Given the description of an element on the screen output the (x, y) to click on. 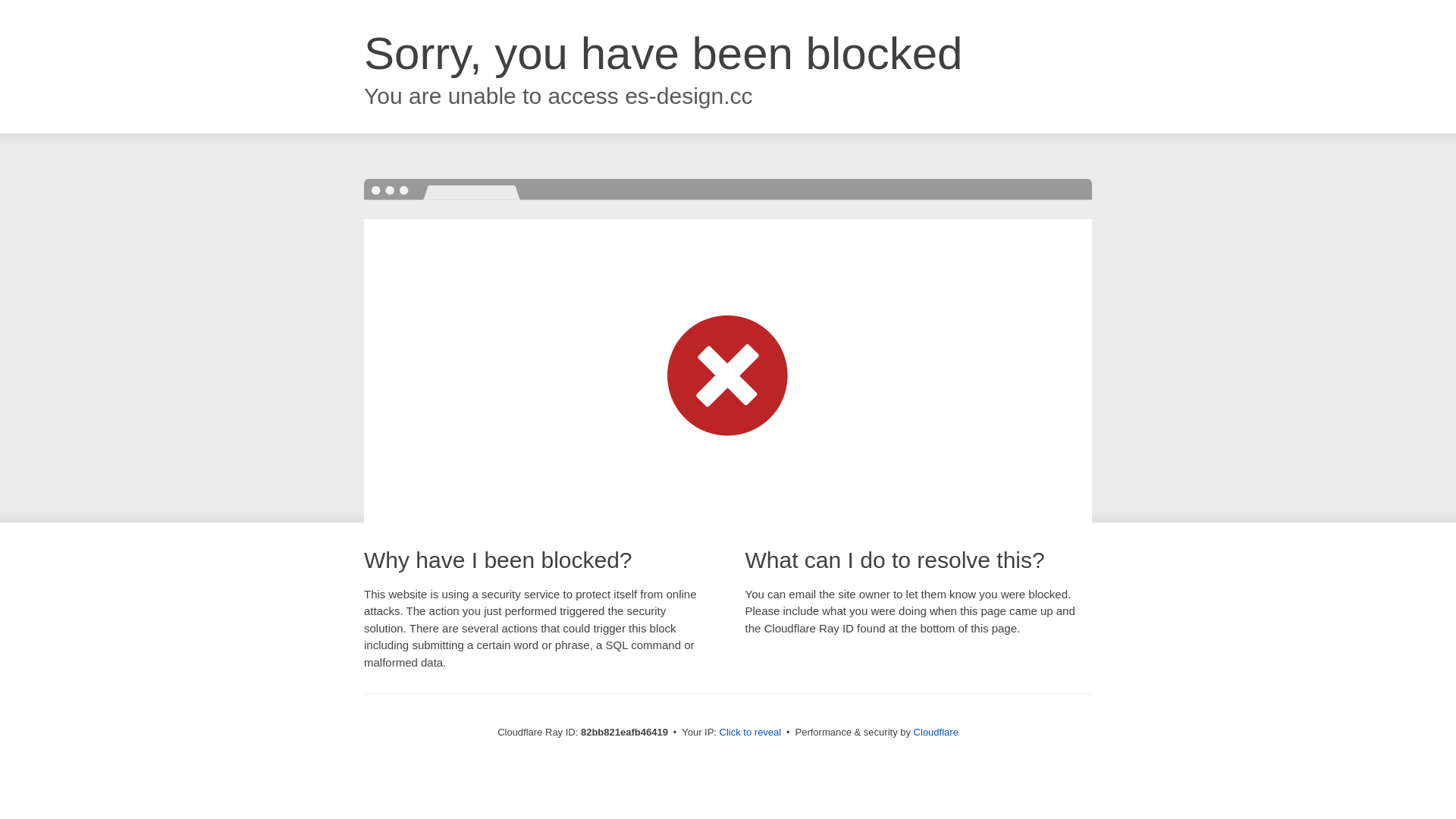
Click to reveal Element type: text (750, 732)
Cloudflare Element type: text (935, 731)
